Given the description of an element on the screen output the (x, y) to click on. 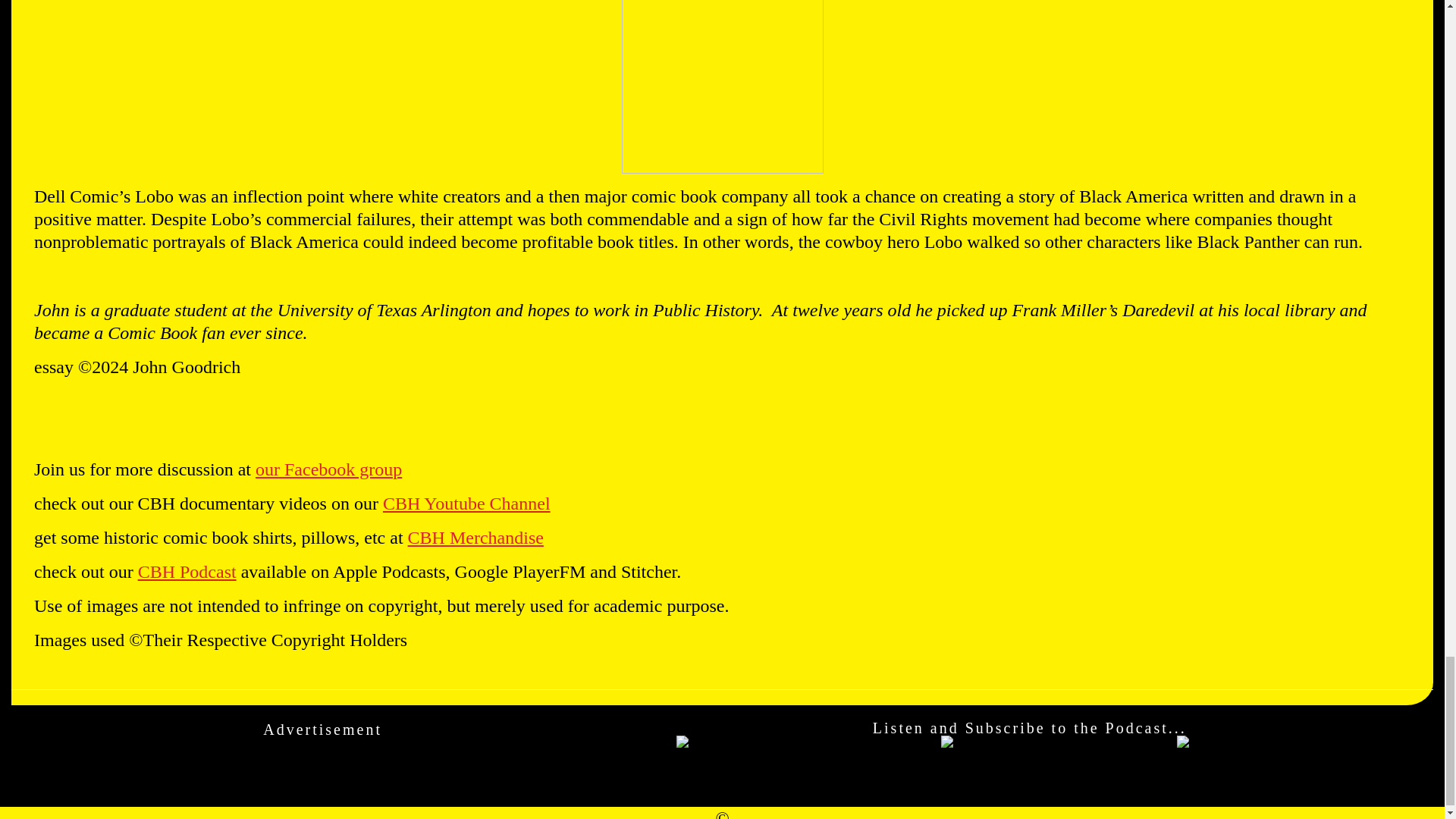
CBH Podcast (186, 571)
CBH Podcast (186, 571)
CBH Merchandise (475, 537)
our Facebook group (328, 469)
CBH Youtube Channel (466, 503)
our Facebook group (328, 469)
CBH Merchandise (475, 537)
CBH Youtube Channel (466, 503)
